Given the description of an element on the screen output the (x, y) to click on. 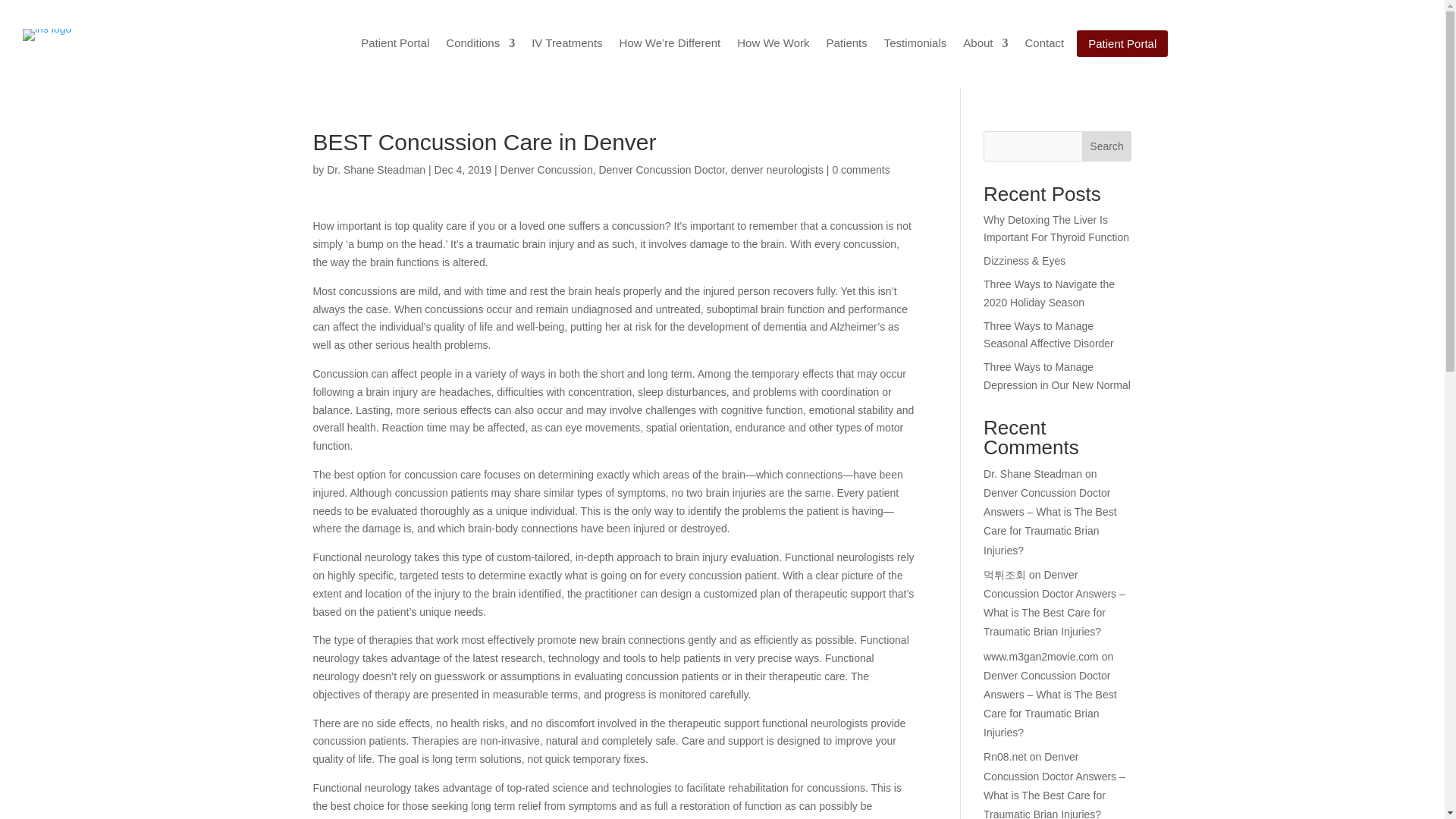
Testimonials (915, 45)
Conditions (480, 45)
denver neurologists (777, 169)
How We Work (772, 45)
Posts by Dr. Shane Steadman (375, 169)
Denver Concussion (546, 169)
Patient Portal (1122, 43)
Contact (1044, 45)
Dr. Shane Steadman (375, 169)
0 comments (860, 169)
Patient Portal (395, 45)
About (984, 45)
Denver Concussion Doctor (661, 169)
Patients (847, 45)
IV Treatments (566, 45)
